Given the description of an element on the screen output the (x, y) to click on. 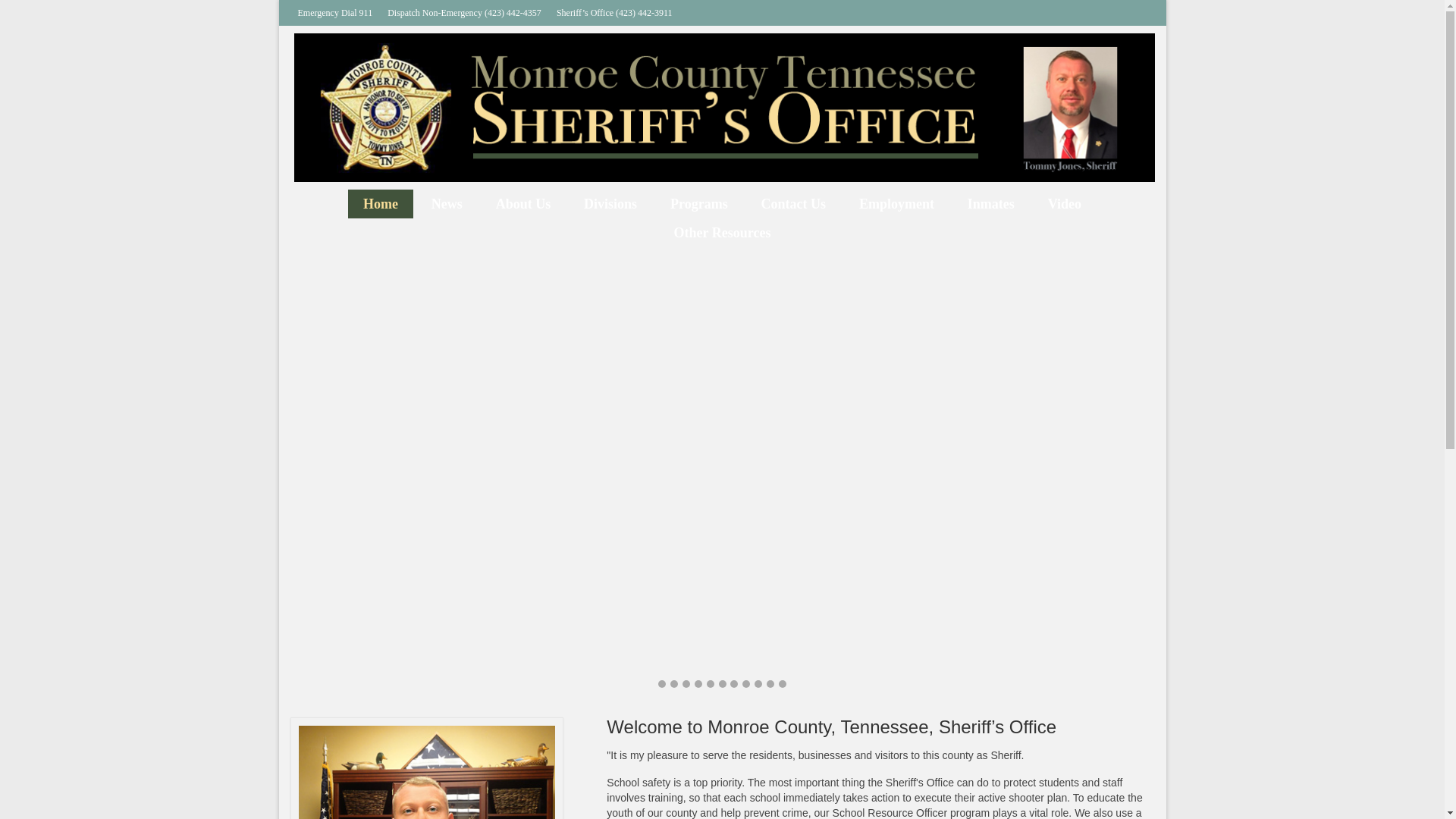
Divisions (610, 203)
Monroe County Tennessee Sheriff's Office (724, 107)
Inmates (990, 203)
Emergency Dial 911 (334, 12)
Employment (896, 203)
Home (380, 203)
Programs (698, 203)
About Us (523, 203)
Video (1064, 203)
Other Resources (722, 232)
News (446, 203)
Contact Us (793, 203)
